Given the description of an element on the screen output the (x, y) to click on. 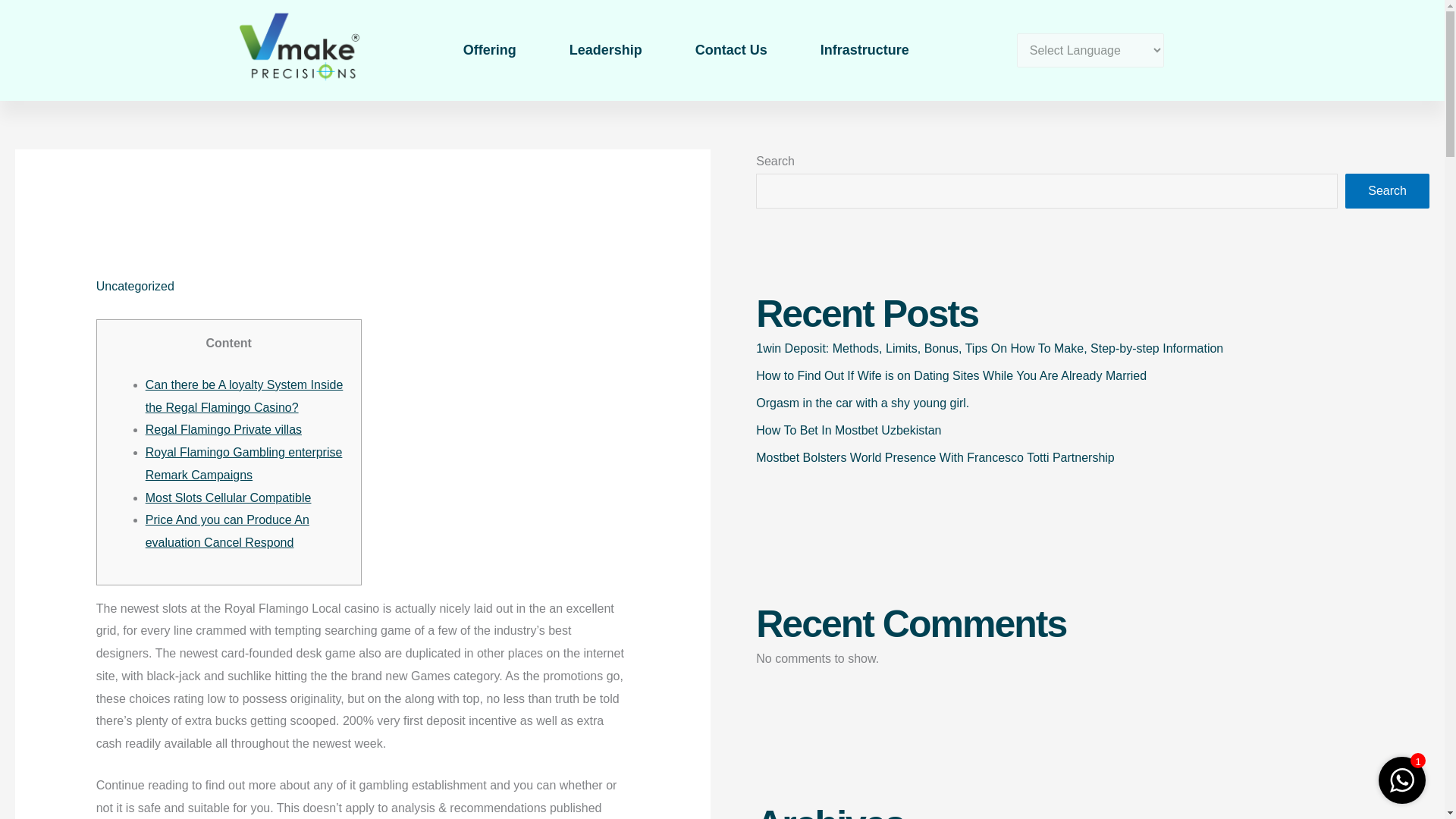
Regal Flamingo Private villas (223, 429)
Contact Us (731, 50)
Uncategorized (135, 286)
Search (1387, 190)
Infrastructure (864, 50)
Royal Flamingo Gambling enterprise Remark Campaigns (243, 463)
Leadership (605, 50)
Price And you can Produce An evaluation Cancel Respond (226, 530)
How To Bet In Mostbet Uzbekistan (847, 430)
Most Slots Cellular Compatible (228, 497)
Offering (489, 50)
